Given the description of an element on the screen output the (x, y) to click on. 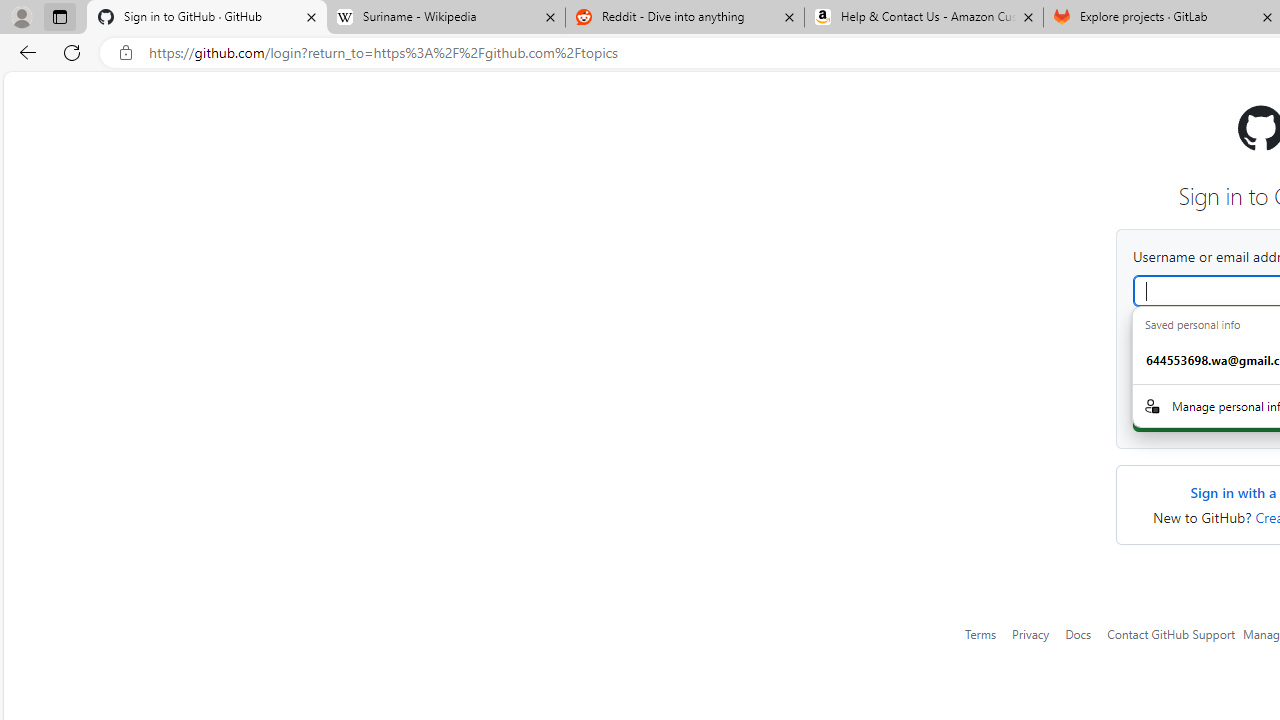
Terms (981, 633)
Reddit - Dive into anything (684, 17)
Terms (981, 633)
Docs (1077, 633)
Suriname - Wikipedia (445, 17)
Contact GitHub Support (1171, 633)
Docs (1077, 633)
Contact GitHub Support (1171, 633)
